Given the description of an element on the screen output the (x, y) to click on. 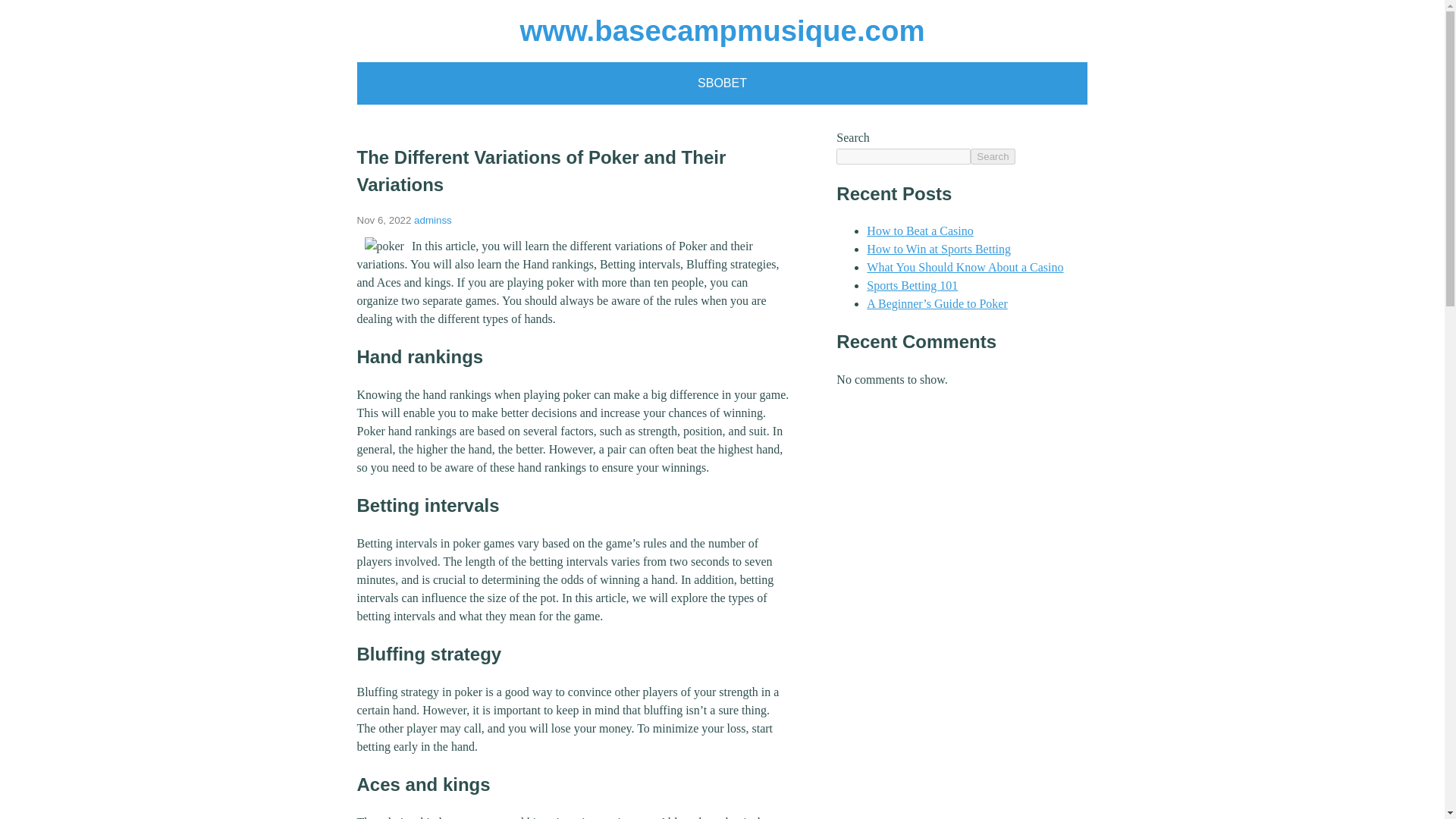
How to Beat a Casino (919, 230)
Search (992, 156)
SBOBET (721, 82)
How to Win at Sports Betting (938, 248)
adminss (432, 220)
www.basecampmusique.com (721, 30)
Sports Betting 101 (912, 285)
What You Should Know About a Casino (964, 267)
